Given the description of an element on the screen output the (x, y) to click on. 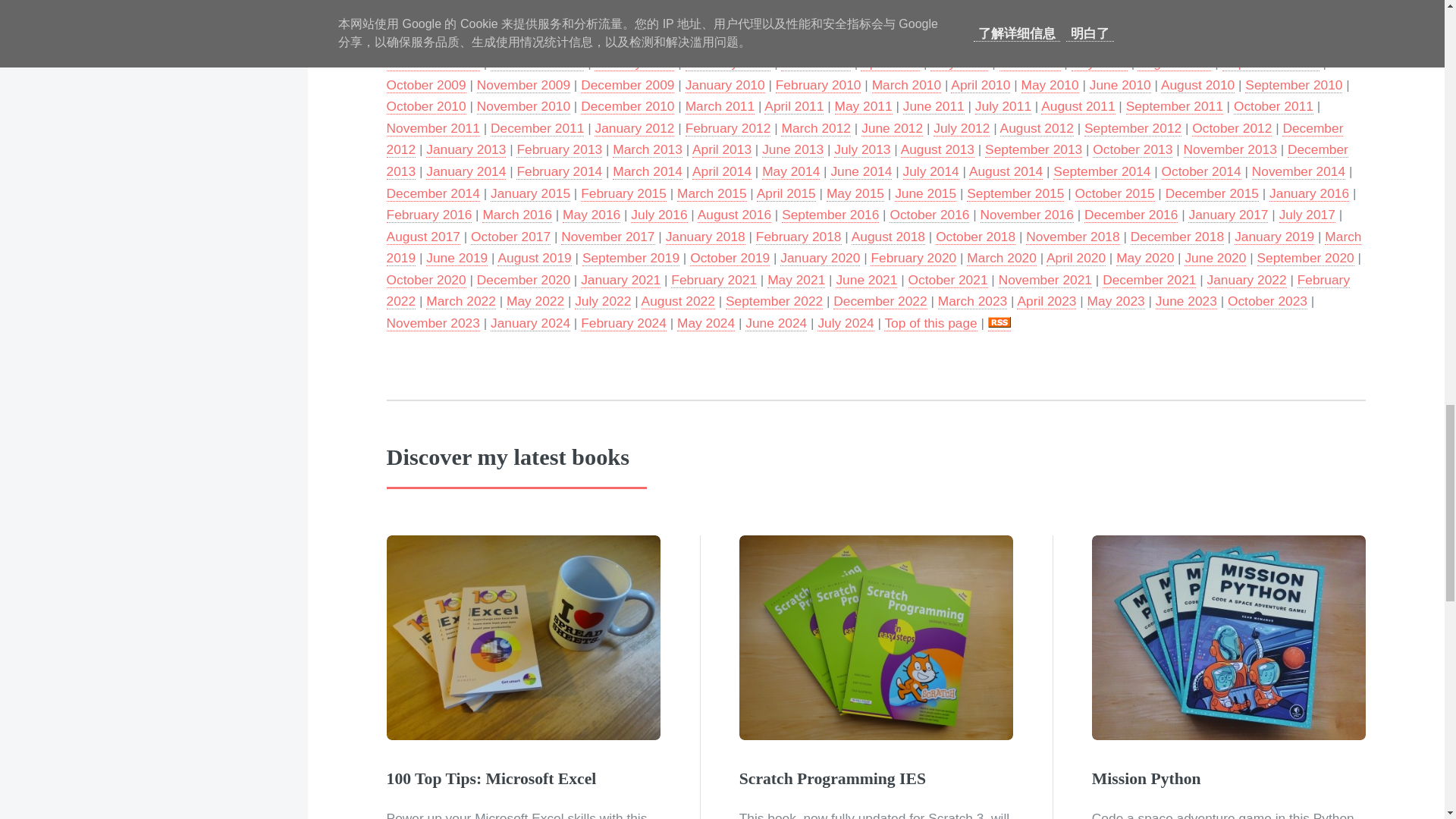
June 2005 (417, 2)
January 2006 (606, 2)
August 2007 (1019, 19)
June 2006 (905, 2)
November 2006 (871, 13)
December 2006 (472, 19)
March 2006 (691, 2)
September 2005 (507, 2)
October 2007 (1214, 19)
May 2006 (834, 2)
